Given the description of an element on the screen output the (x, y) to click on. 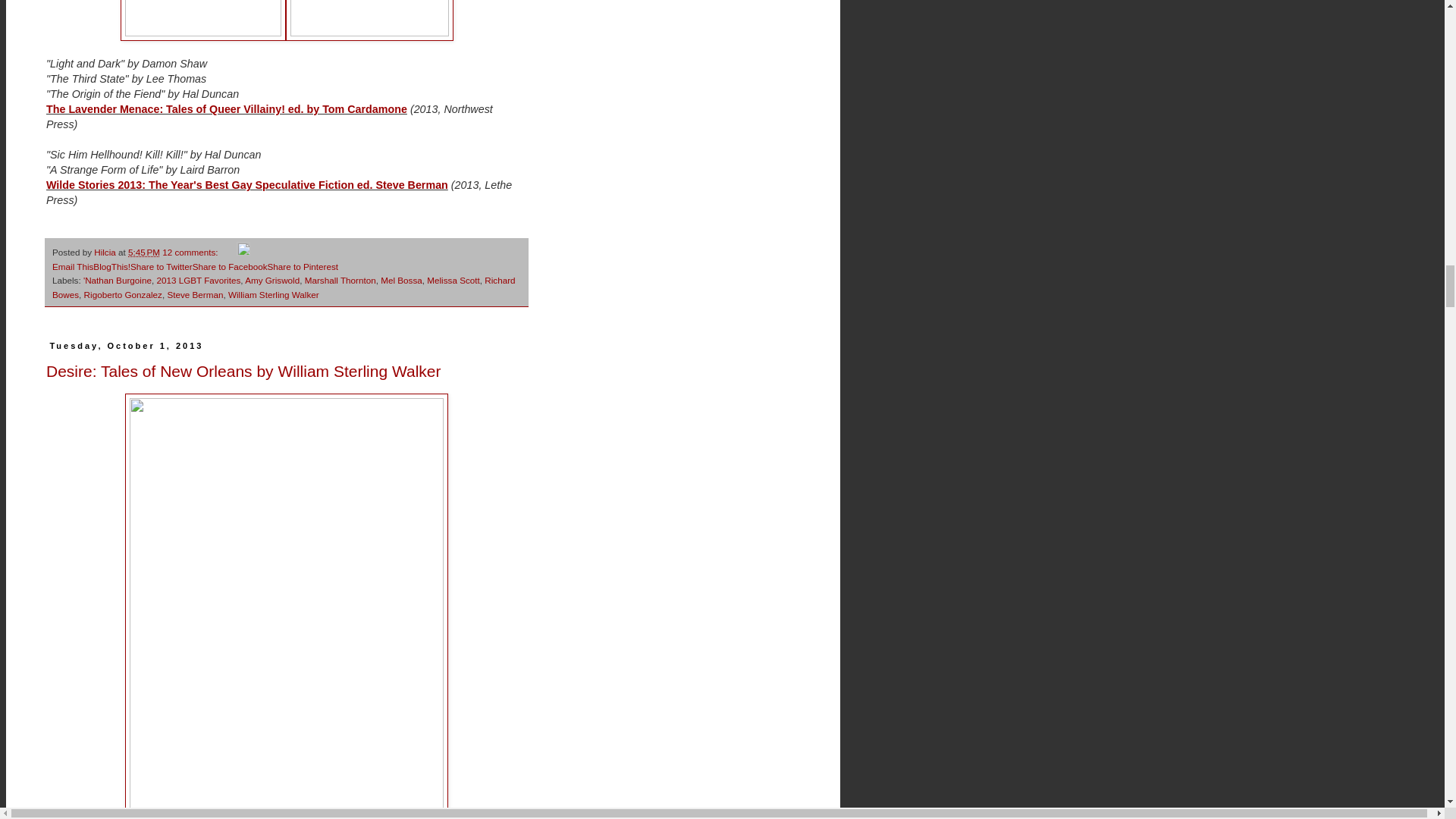
Share to Twitter (161, 266)
Edit Post (242, 252)
Email This (72, 266)
permanent link (144, 252)
BlogThis! (112, 266)
12 comments: (191, 252)
BlogThis! (112, 266)
Share to Facebook (229, 266)
Email This (72, 266)
author profile (105, 252)
Share to Pinterest (301, 266)
Share to Facebook (229, 266)
